Given the description of an element on the screen output the (x, y) to click on. 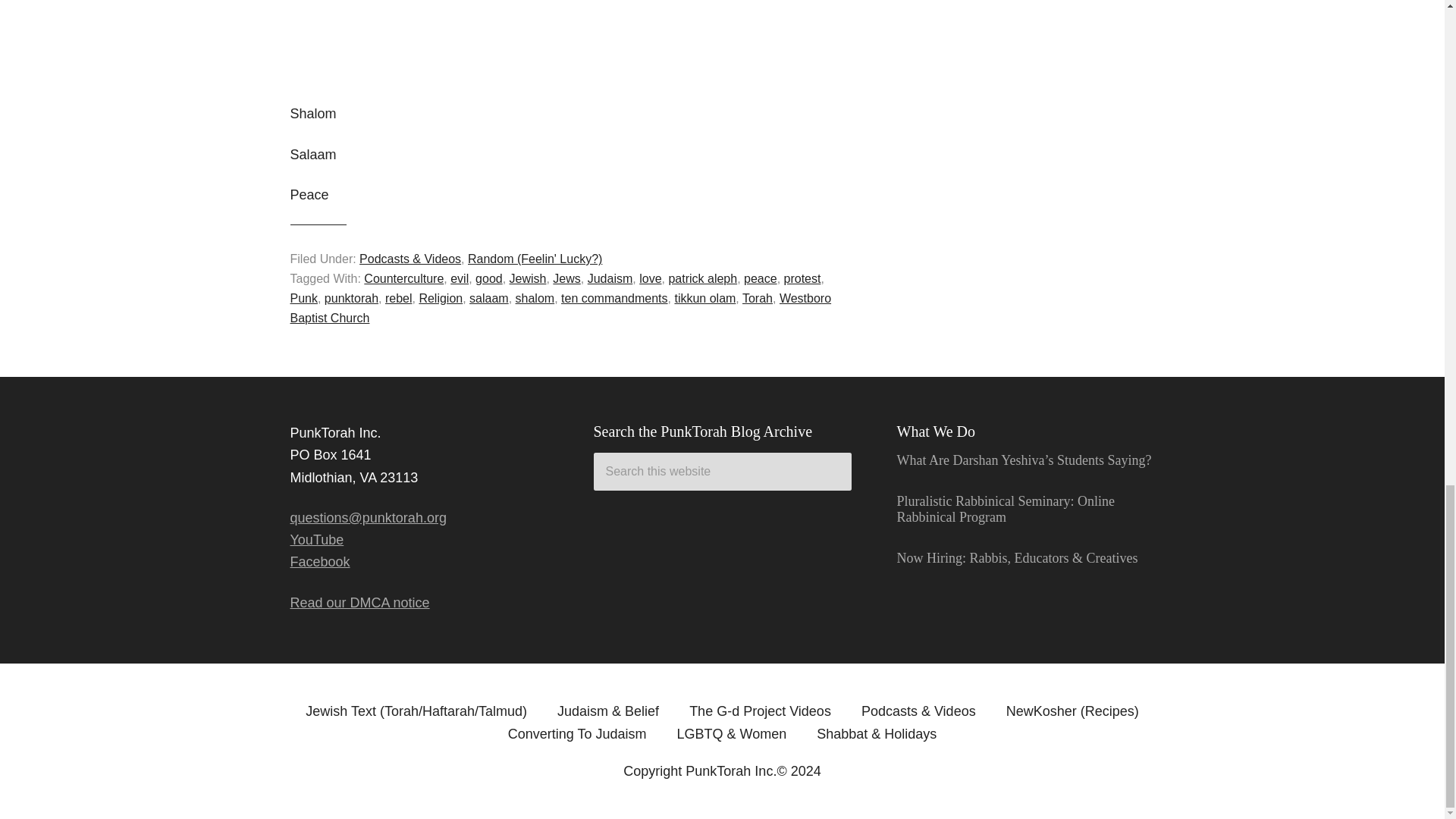
Punk (303, 297)
patrick aleph (702, 278)
punktorah (351, 297)
ten commandments (614, 297)
YouTube (316, 539)
Jews (566, 278)
Counterculture (404, 278)
rebel (398, 297)
tikkun olam (704, 297)
